Given the description of an element on the screen output the (x, y) to click on. 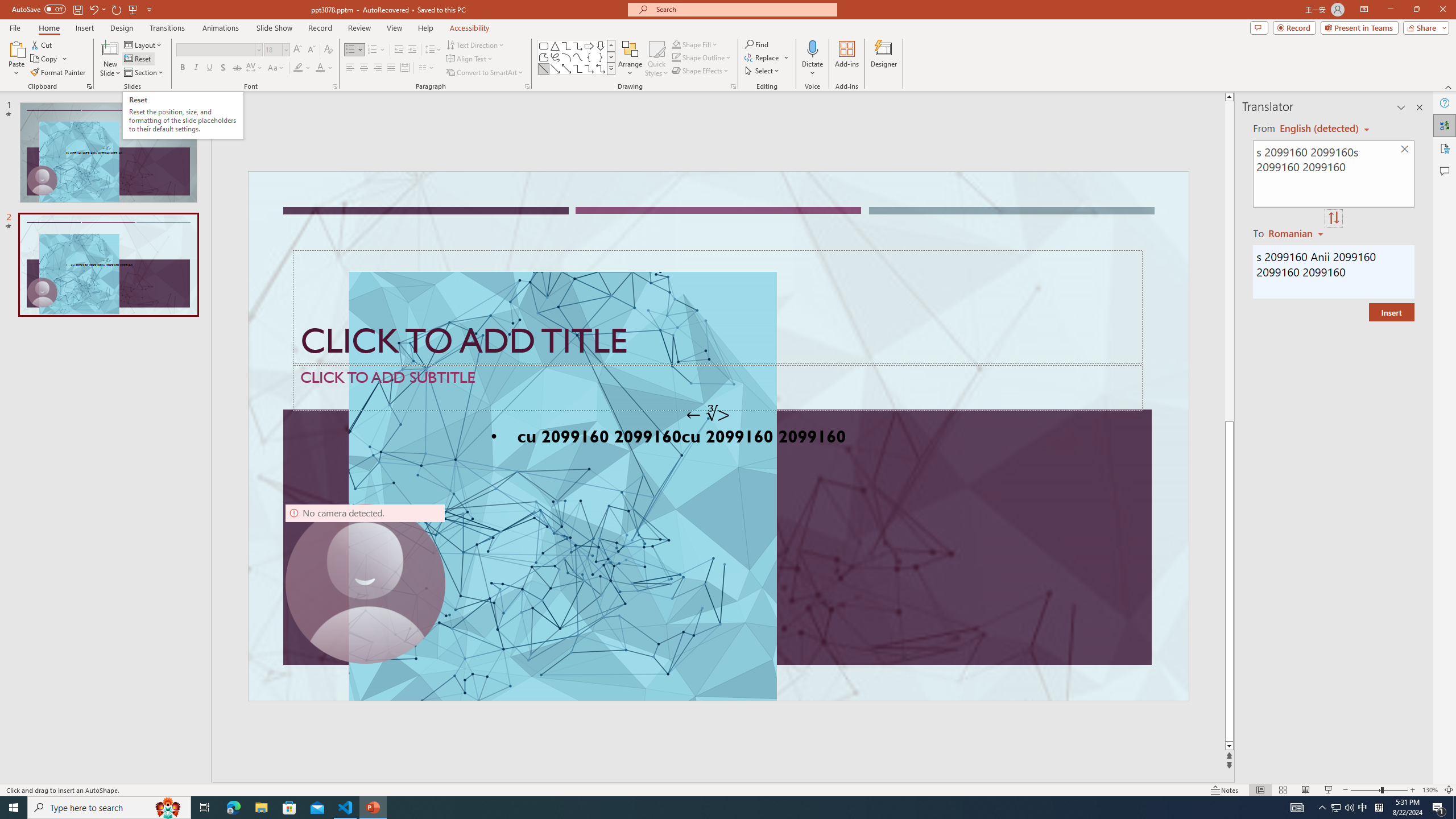
Shadow (223, 67)
Format Object... (733, 85)
Czech (1296, 232)
Arrow: Right (589, 45)
Center (363, 67)
Line Arrow (554, 68)
Strikethrough (237, 67)
Underline (209, 67)
